Given the description of an element on the screen output the (x, y) to click on. 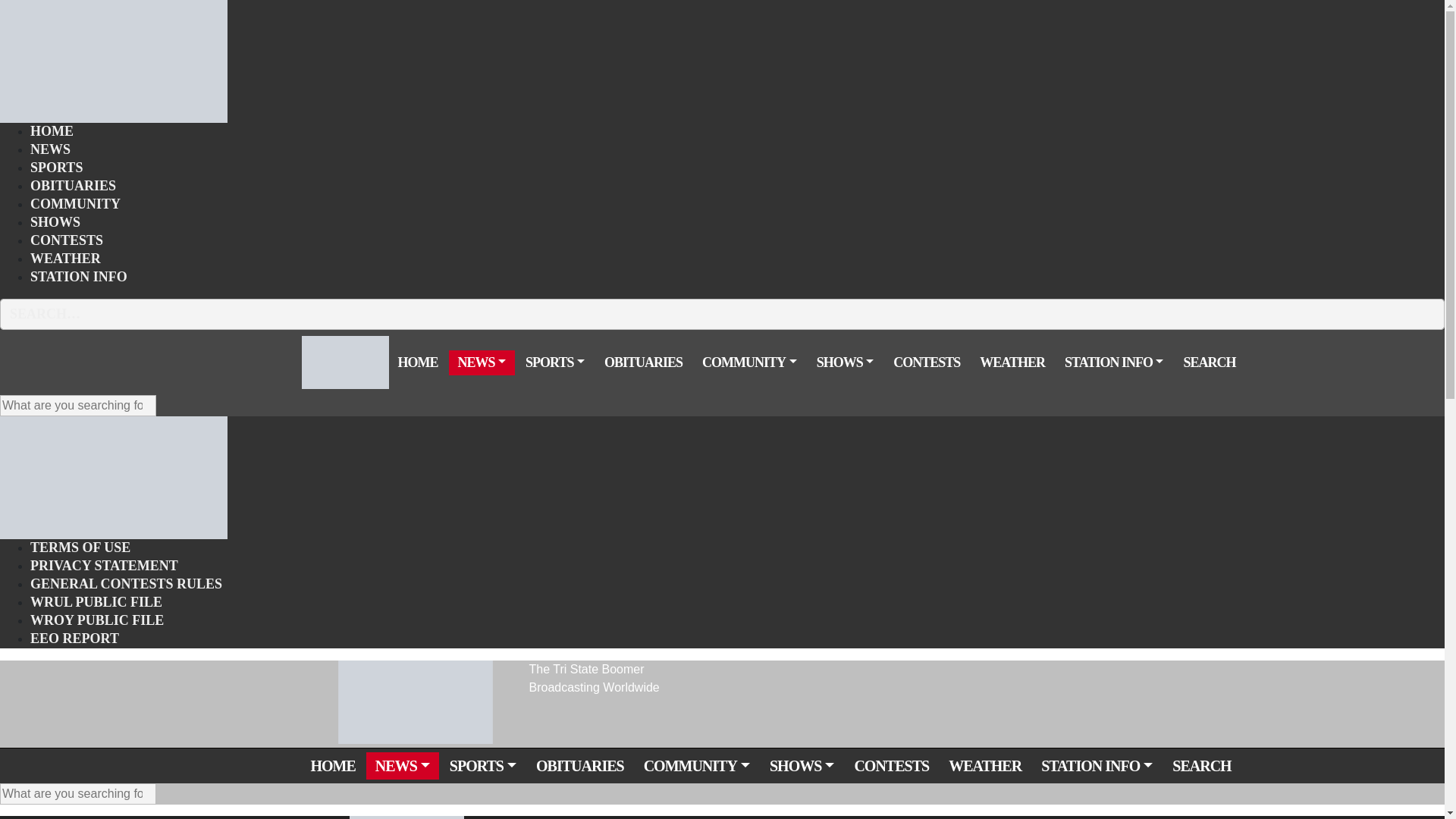
Search for: (77, 405)
COMMUNITY (75, 203)
STATION INFO (79, 276)
SPORTS (56, 167)
WRUL-FM (113, 60)
CONTESTS (66, 240)
OBITUARIES (73, 185)
NEWS (49, 148)
WEATHER (65, 258)
WRUL-FM (113, 476)
SHOWS (55, 221)
HOME (417, 362)
NEWS (481, 362)
HOME (52, 130)
WRUL-FM (344, 360)
